Given the description of an element on the screen output the (x, y) to click on. 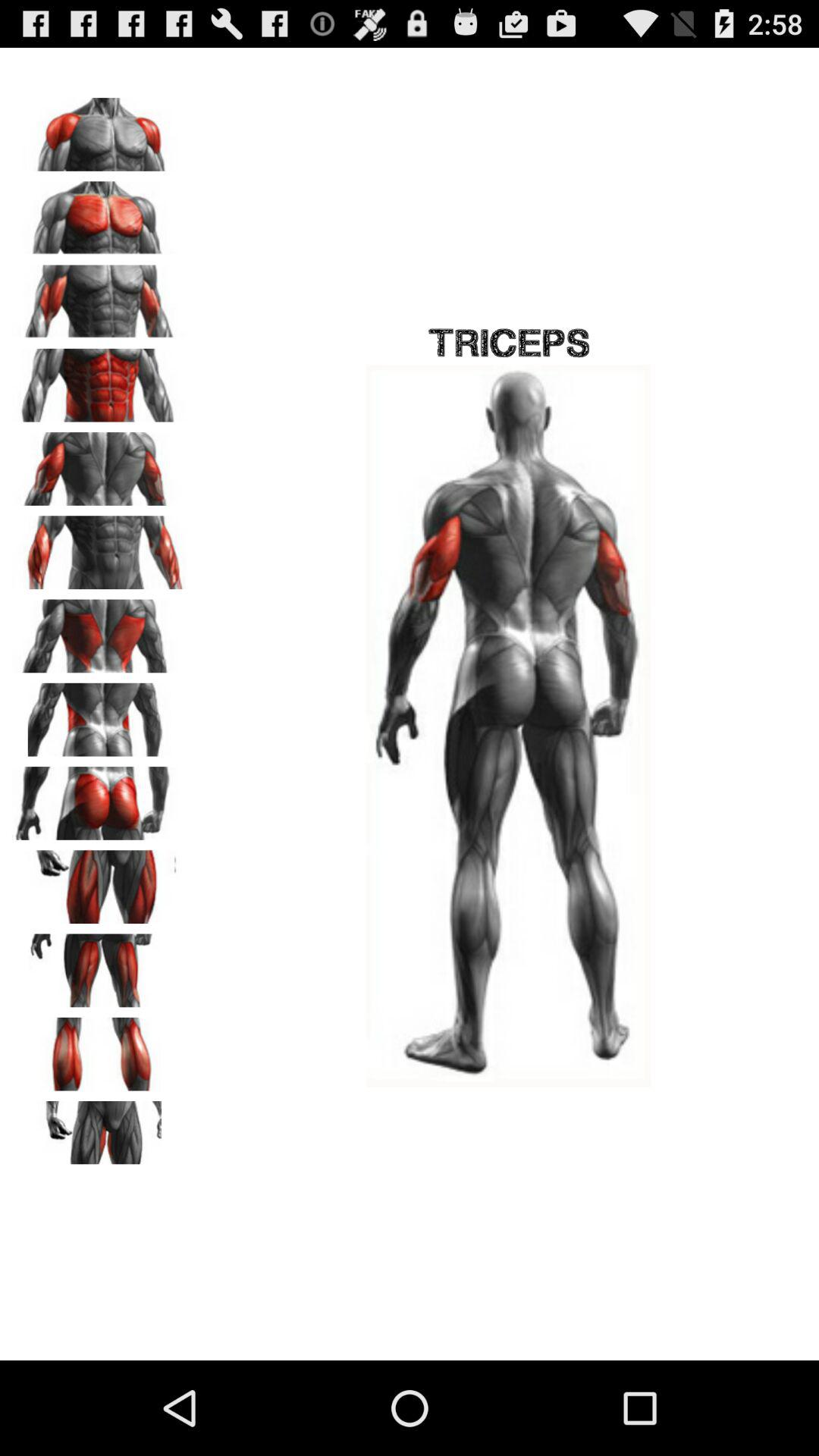
shoulder muscle group selection (99, 129)
